Given the description of an element on the screen output the (x, y) to click on. 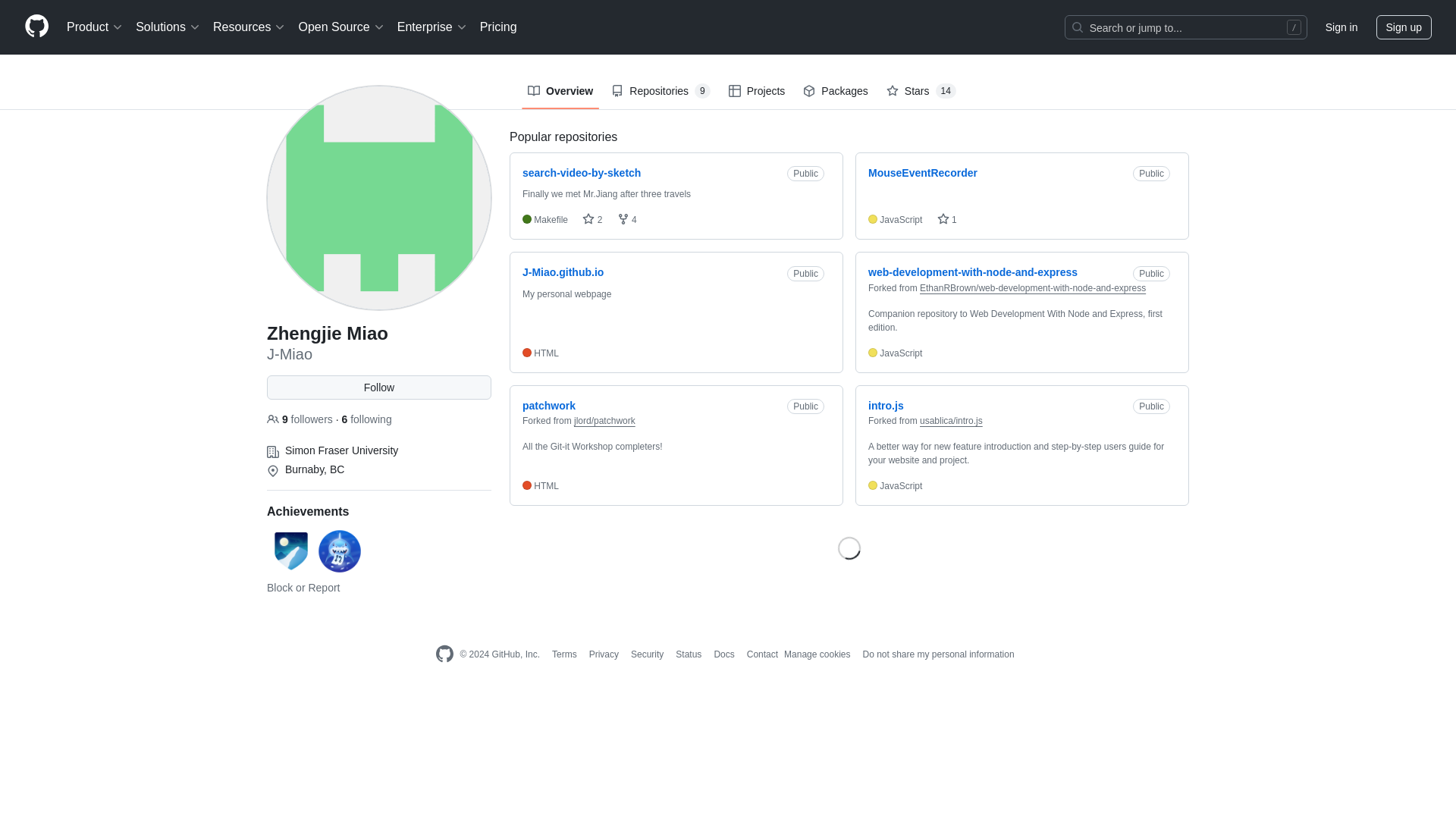
Solutions (167, 27)
Product (95, 27)
14 (946, 90)
Open Source (341, 27)
9 (702, 90)
Resources (249, 27)
GitHub (443, 654)
